Given the description of an element on the screen output the (x, y) to click on. 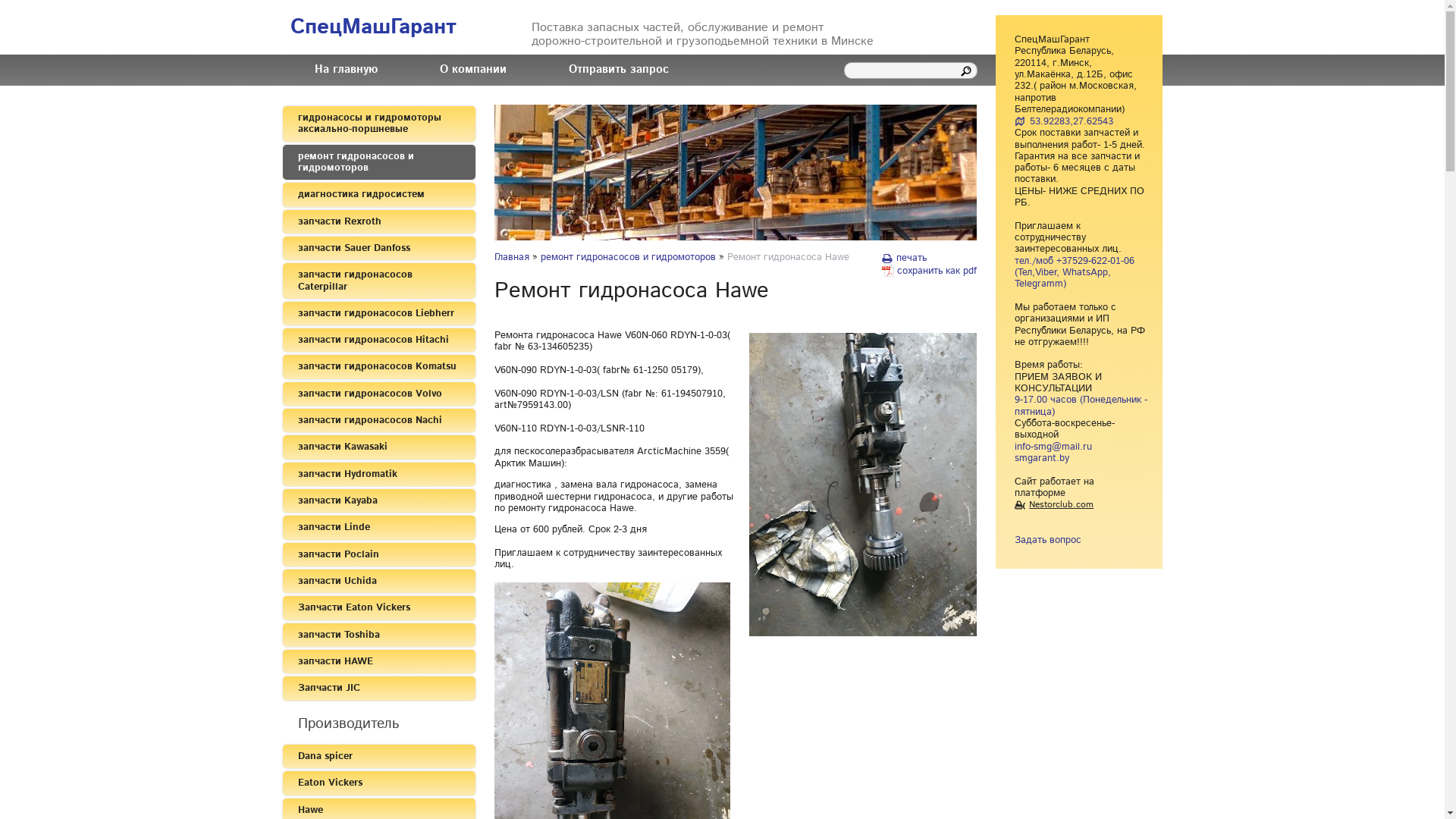
53.92283,27.62543 Element type: text (1063, 121)
Dana spicer Element type: text (378, 756)
Eaton Vickers Element type: text (378, 782)
info-smg@mail.ru Element type: text (1053, 446)
smgarant.by Element type: text (1041, 458)
Nestorclub.com Element type: text (1054, 504)
